Given the description of an element on the screen output the (x, y) to click on. 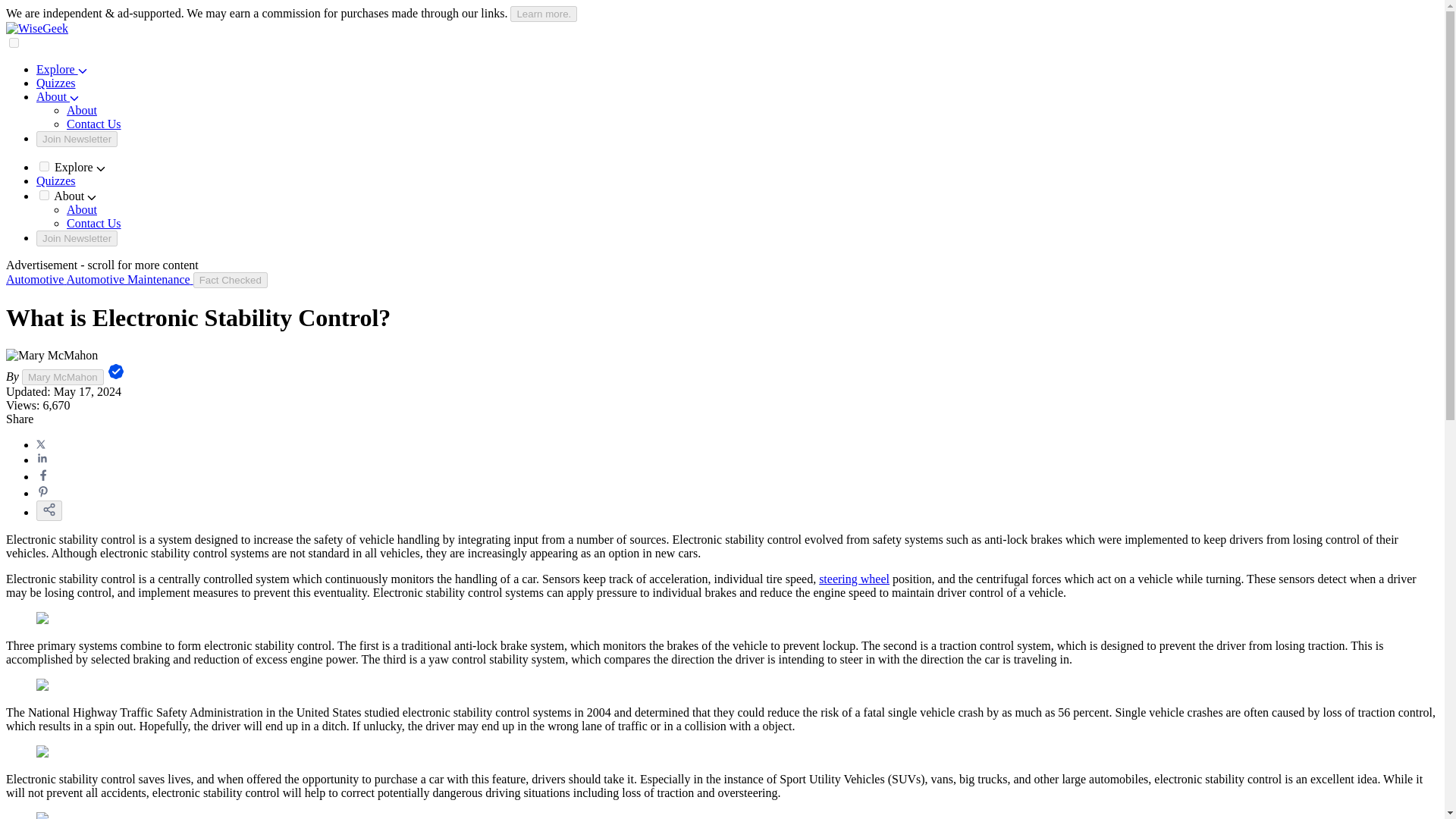
Automotive Automotive Maintenance (99, 278)
on (44, 166)
steering wheel (853, 578)
Quizzes (55, 180)
Fact Checked (230, 279)
About (57, 96)
Contact Us (93, 223)
on (44, 194)
Contact Us (93, 123)
About (81, 110)
